Given the description of an element on the screen output the (x, y) to click on. 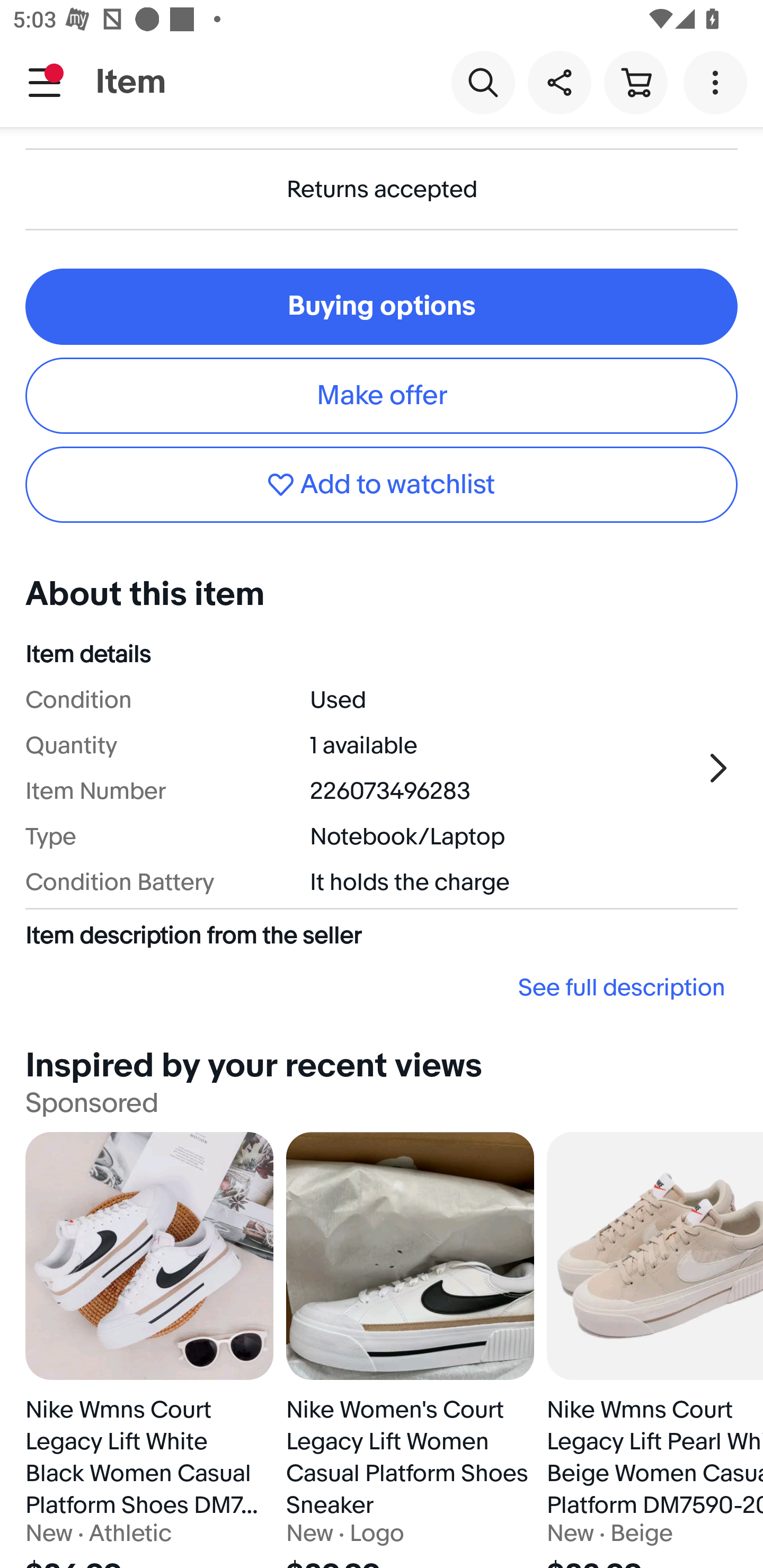
Main navigation, notification is pending, open (44, 82)
Search (482, 81)
Share this item (559, 81)
Cart button shopping cart (635, 81)
More options (718, 81)
Buying options (381, 306)
Make offer (381, 395)
Add to watchlist (381, 484)
See full description (381, 986)
